Given the description of an element on the screen output the (x, y) to click on. 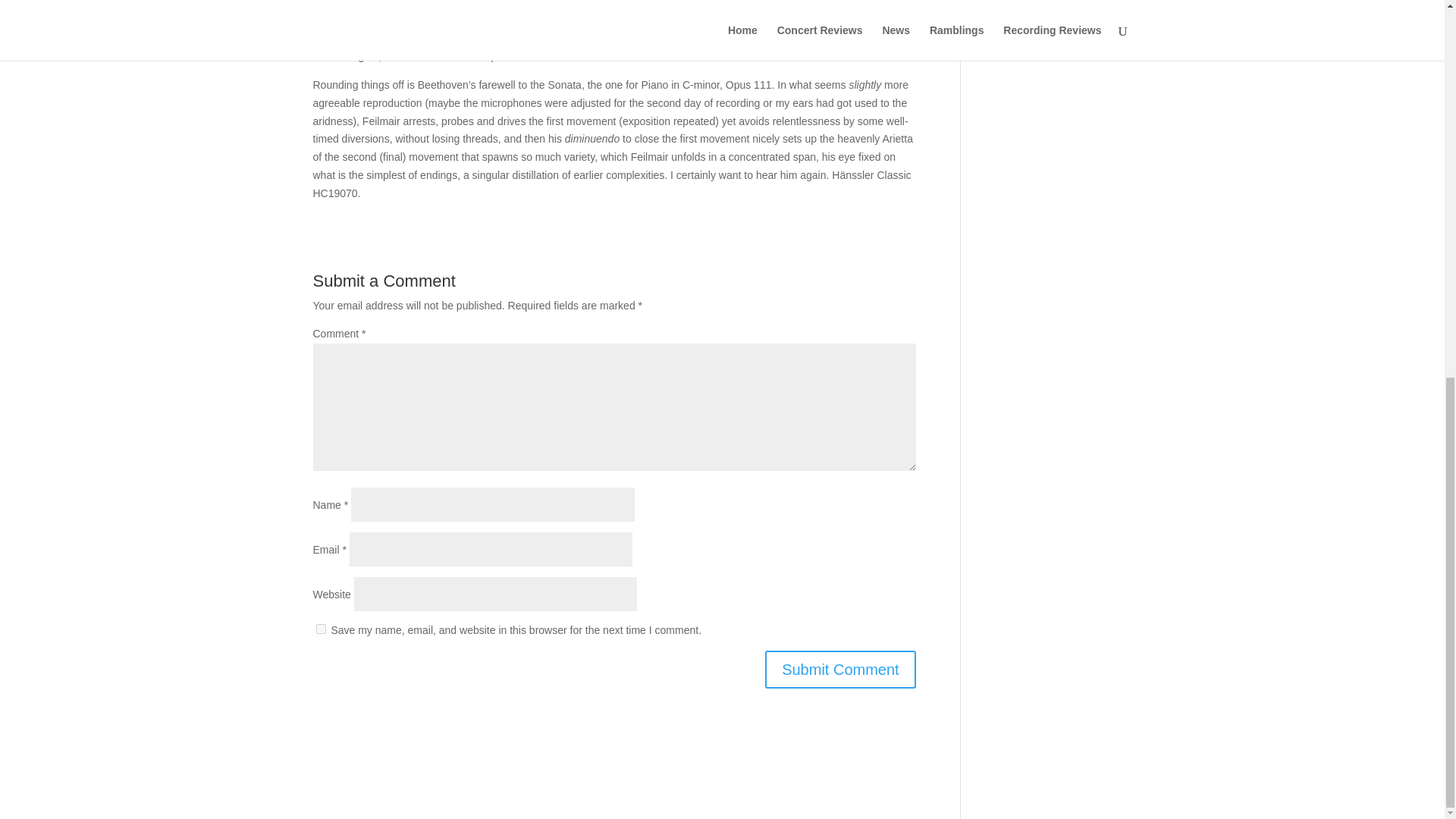
yes (319, 628)
Submit Comment (840, 669)
Submit Comment (840, 669)
